Given the description of an element on the screen output the (x, y) to click on. 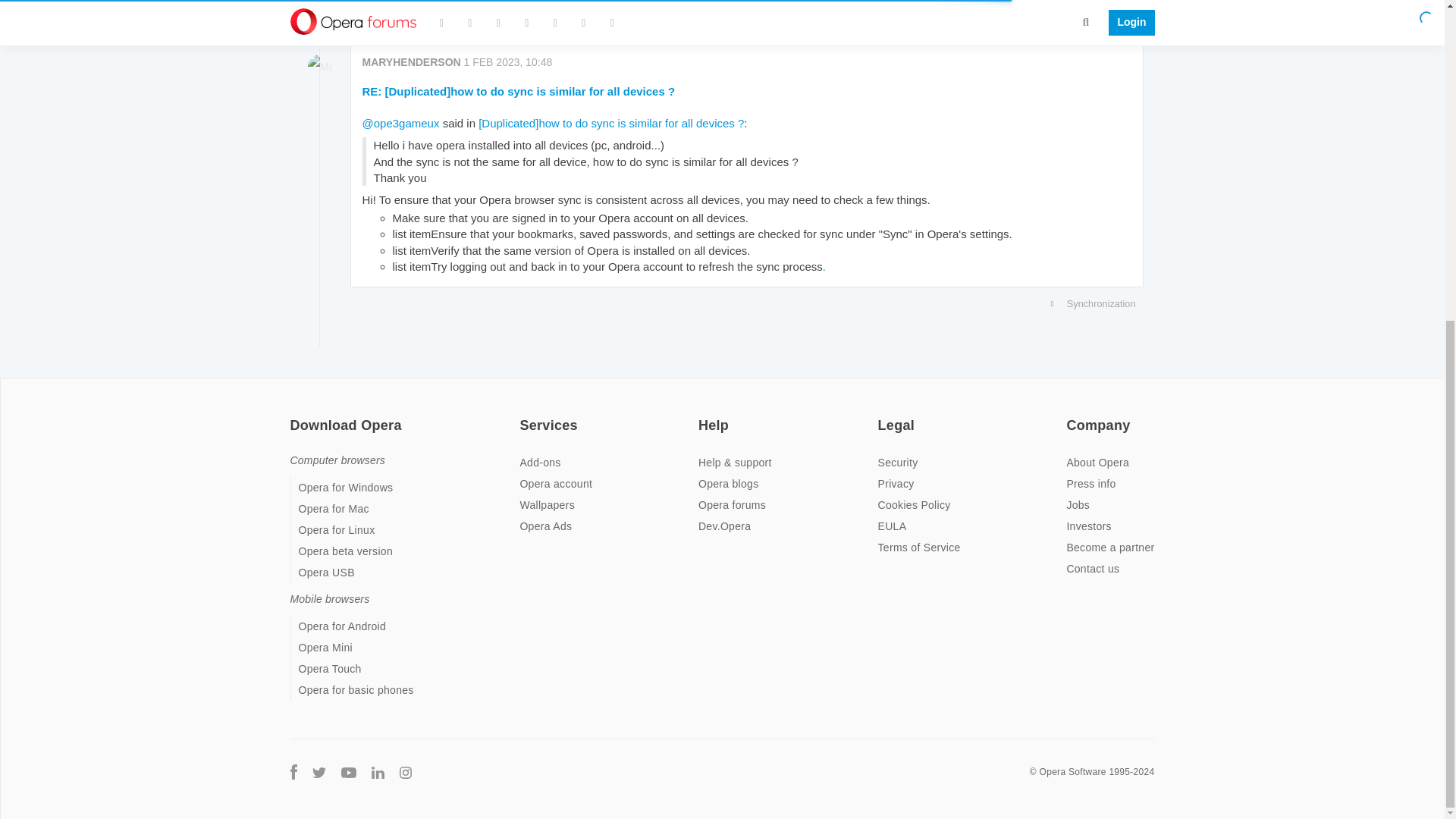
on (702, 415)
Synchronization (742, 303)
on (293, 415)
MARYHENDERSON (411, 61)
on (1070, 415)
on (523, 415)
on (881, 415)
